Given the description of an element on the screen output the (x, y) to click on. 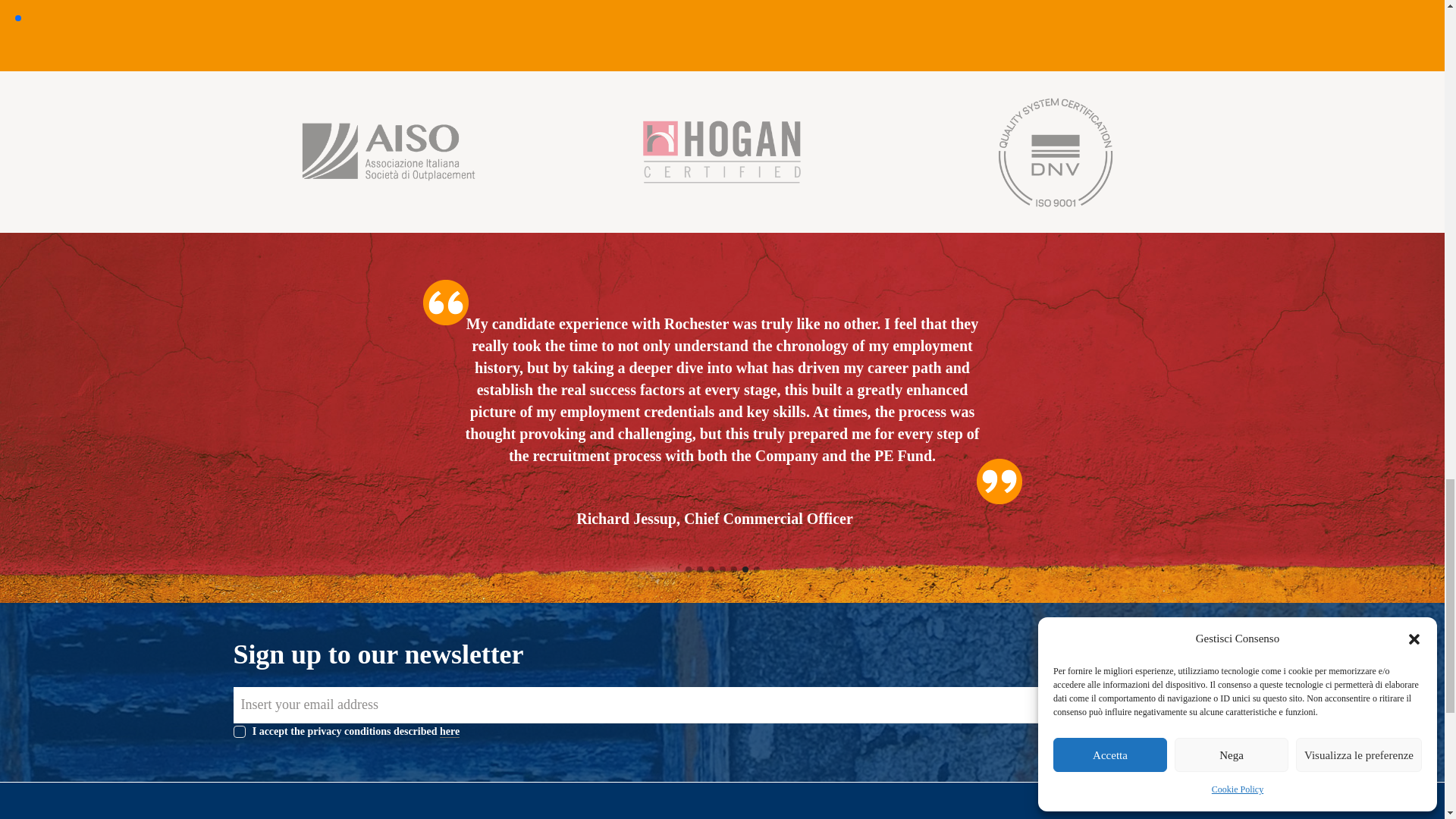
1 (237, 728)
Subscribe (1139, 707)
